Given the description of an element on the screen output the (x, y) to click on. 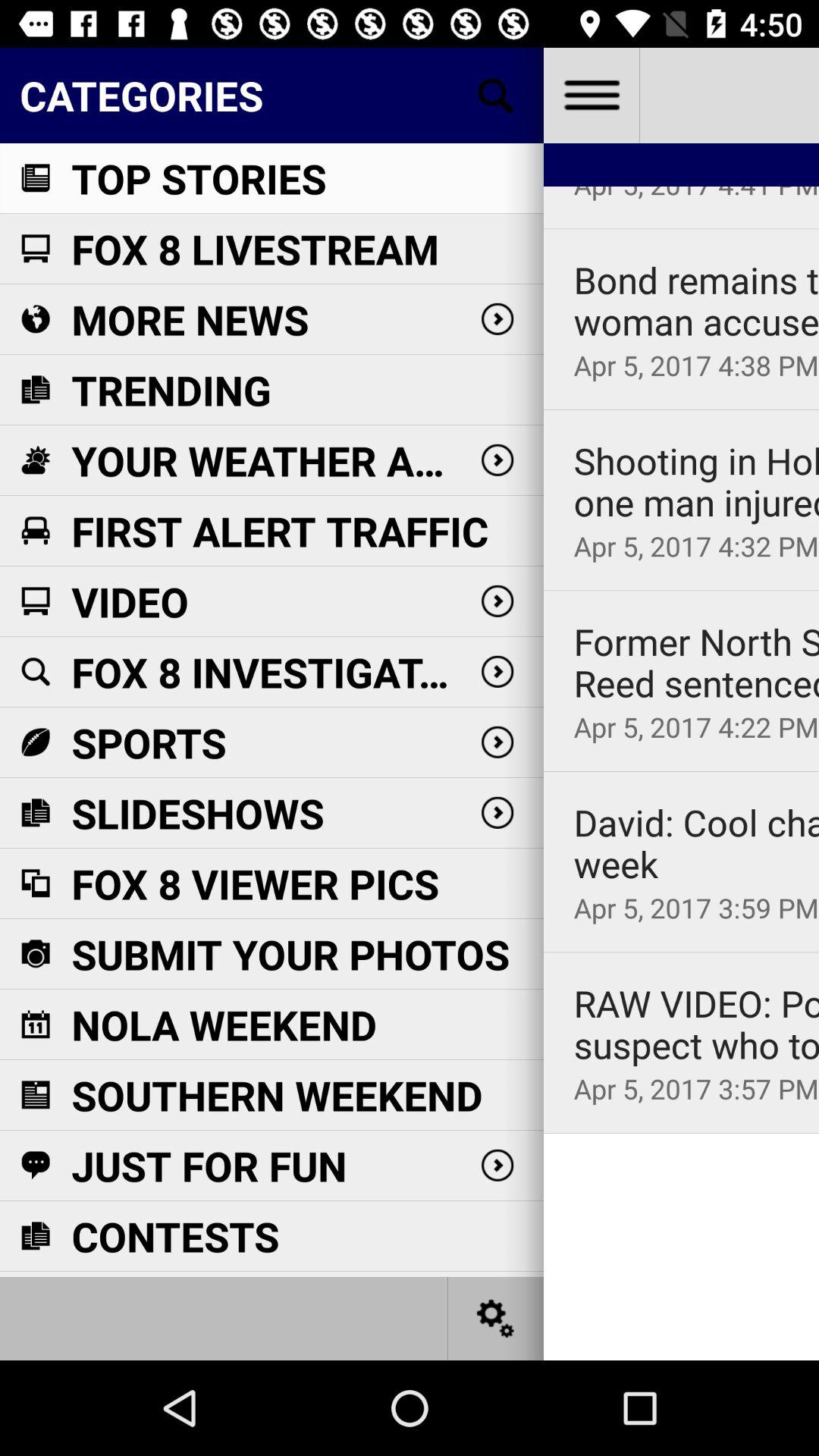
settings button (591, 95)
